Given the description of an element on the screen output the (x, y) to click on. 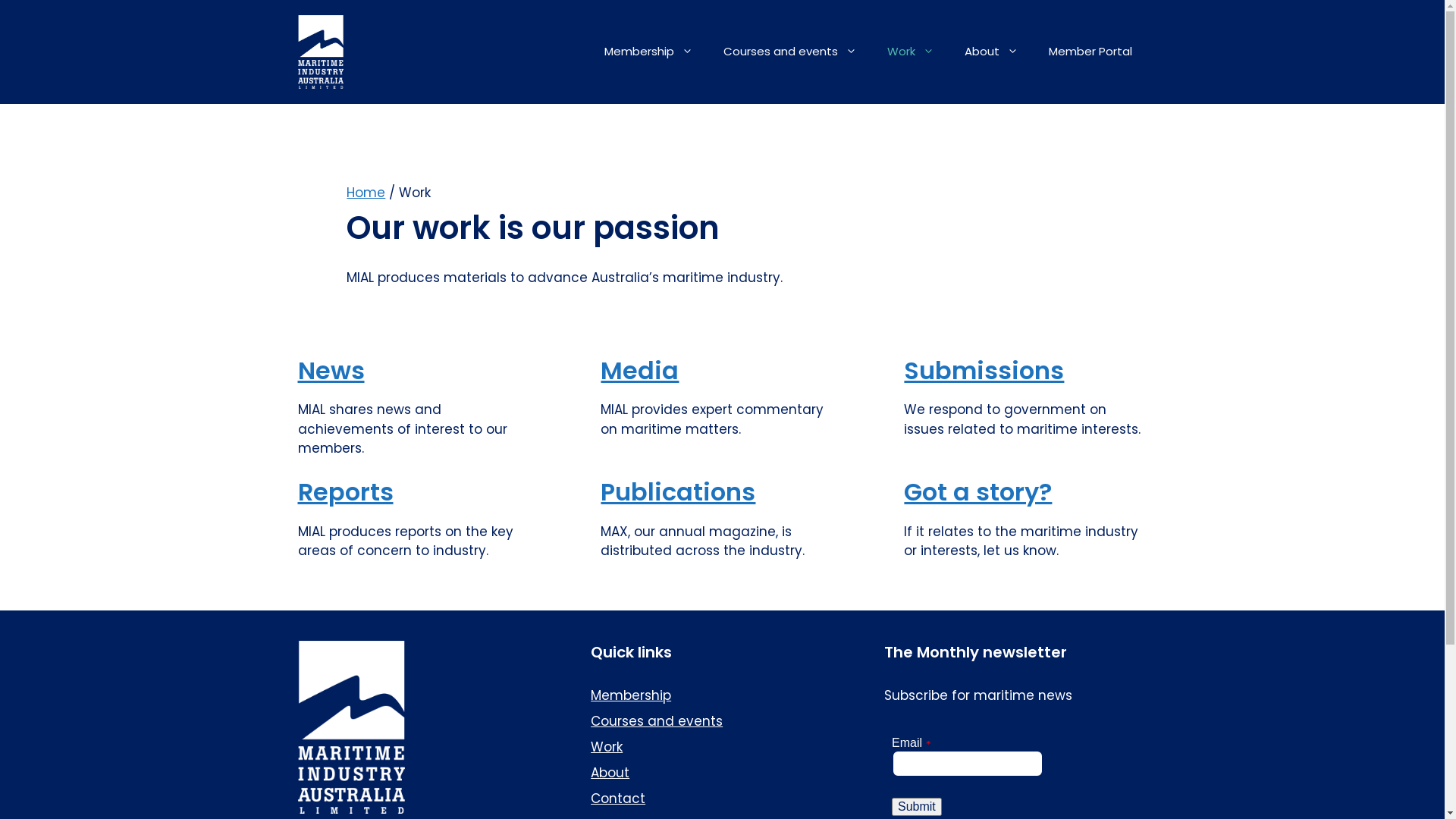
Courses and events Element type: text (790, 51)
Reports Element type: text (344, 491)
Got a story? Element type: text (977, 491)
Home Element type: text (365, 192)
Courses and events Element type: text (656, 721)
Submissions Element type: text (983, 370)
News Element type: text (330, 370)
Contact Element type: text (617, 798)
Membership Element type: text (630, 695)
About Element type: text (991, 51)
Work Element type: text (606, 746)
About Element type: text (609, 772)
Member Portal Element type: text (1089, 51)
Media Element type: text (639, 370)
Membership Element type: text (647, 51)
Work Element type: text (910, 51)
Publications Element type: text (677, 491)
